Given the description of an element on the screen output the (x, y) to click on. 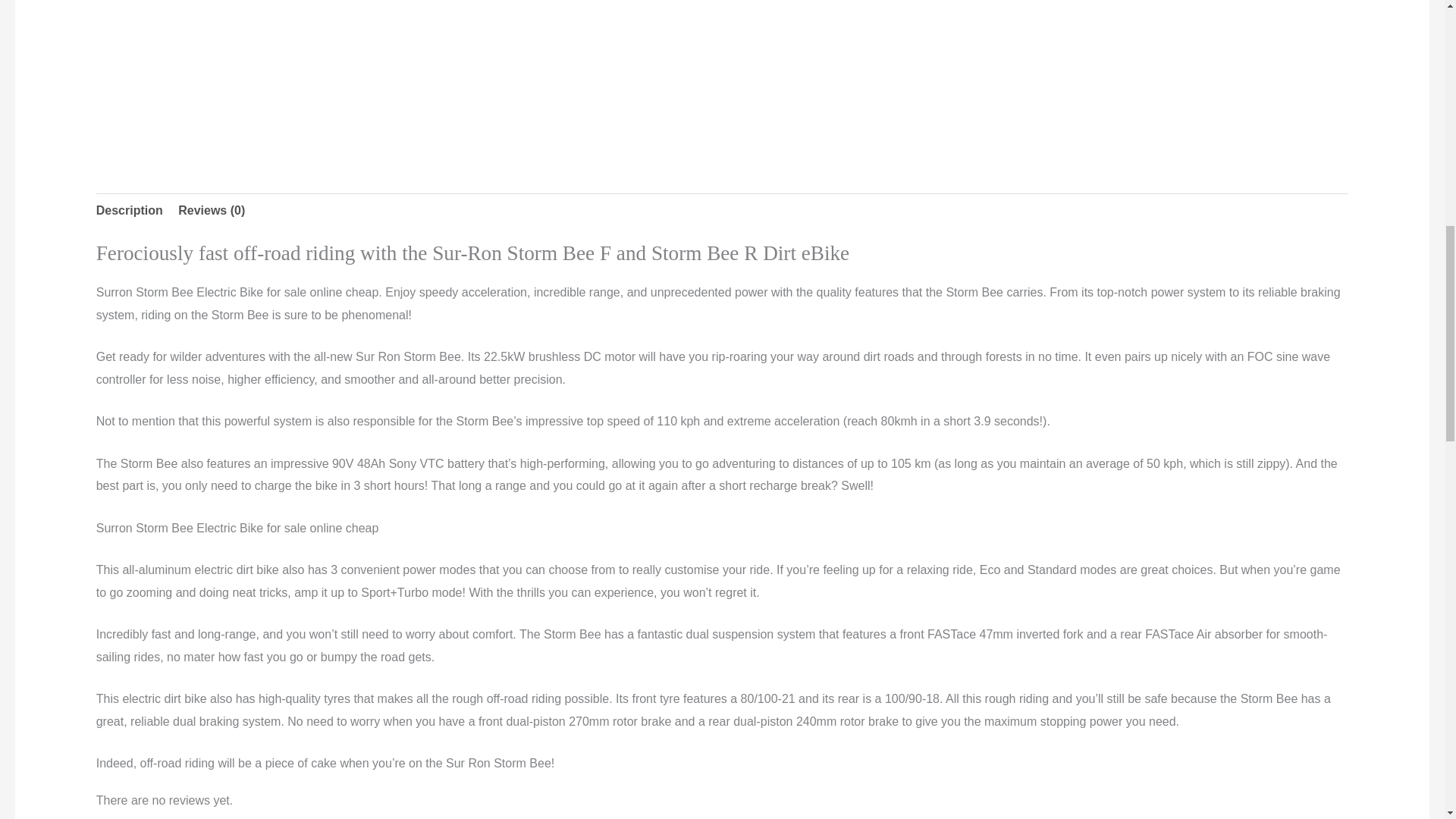
Description (129, 210)
